Given the description of an element on the screen output the (x, y) to click on. 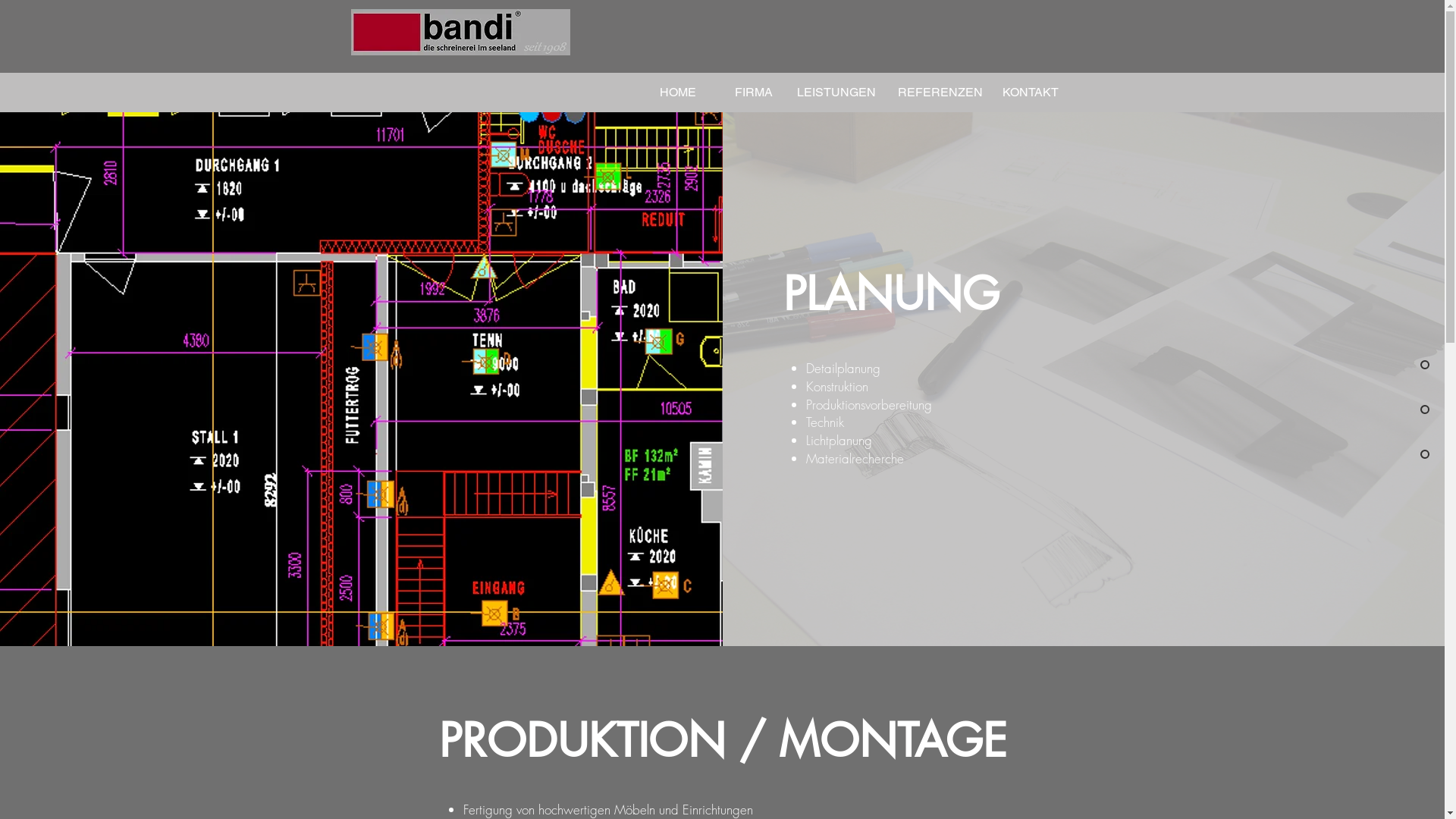
REFERENZEN Element type: text (939, 92)
LEISTUNGEN Element type: text (836, 92)
FIRMA Element type: text (753, 92)
KONTAKT Element type: text (1030, 92)
HOME Element type: text (677, 92)
